Given the description of an element on the screen output the (x, y) to click on. 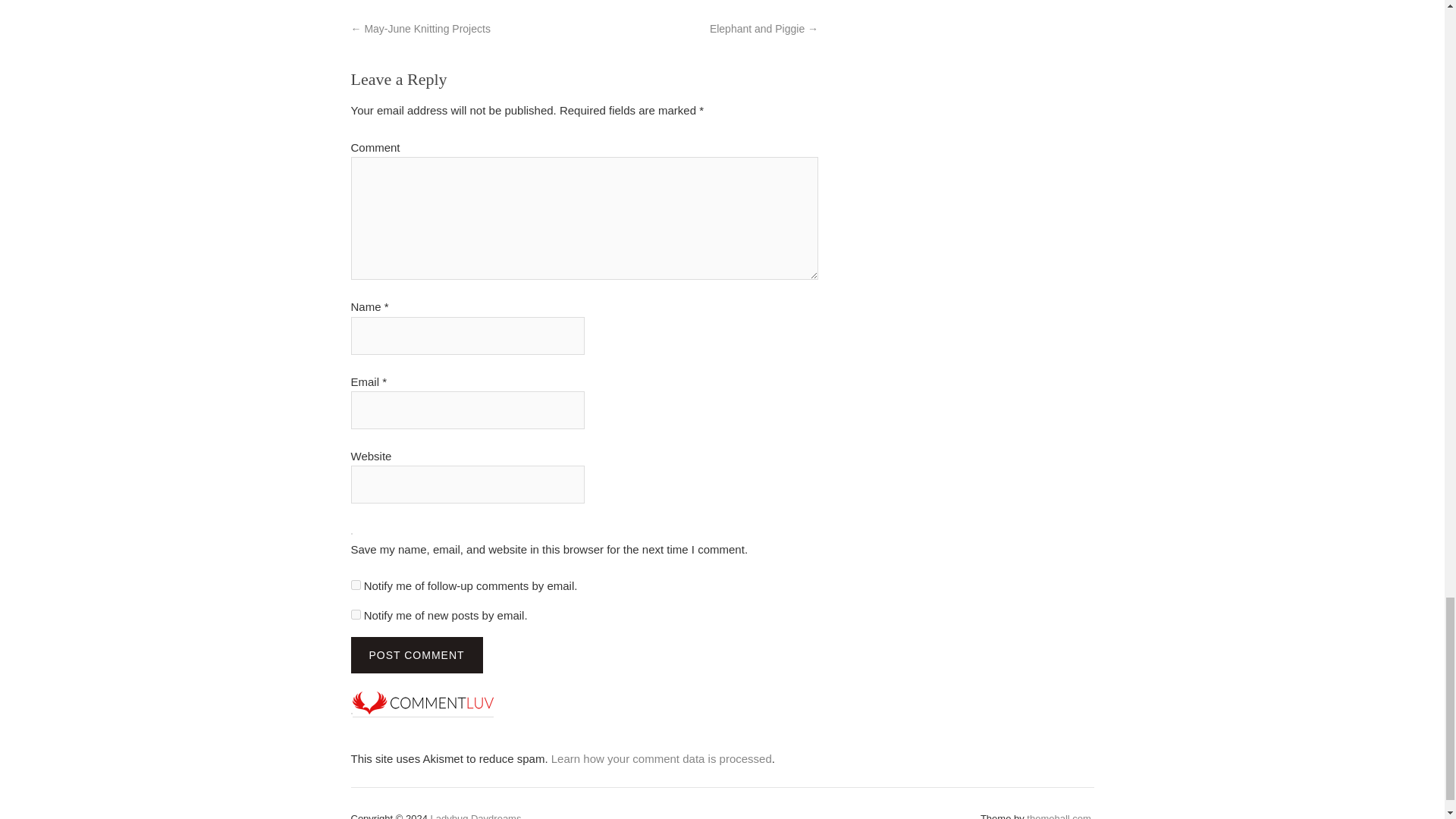
Post Comment (415, 655)
CommentLuv is enabled (422, 710)
subscribe (354, 584)
Post Comment (415, 655)
subscribe (354, 614)
Learn how your comment data is processed (661, 758)
